Given the description of an element on the screen output the (x, y) to click on. 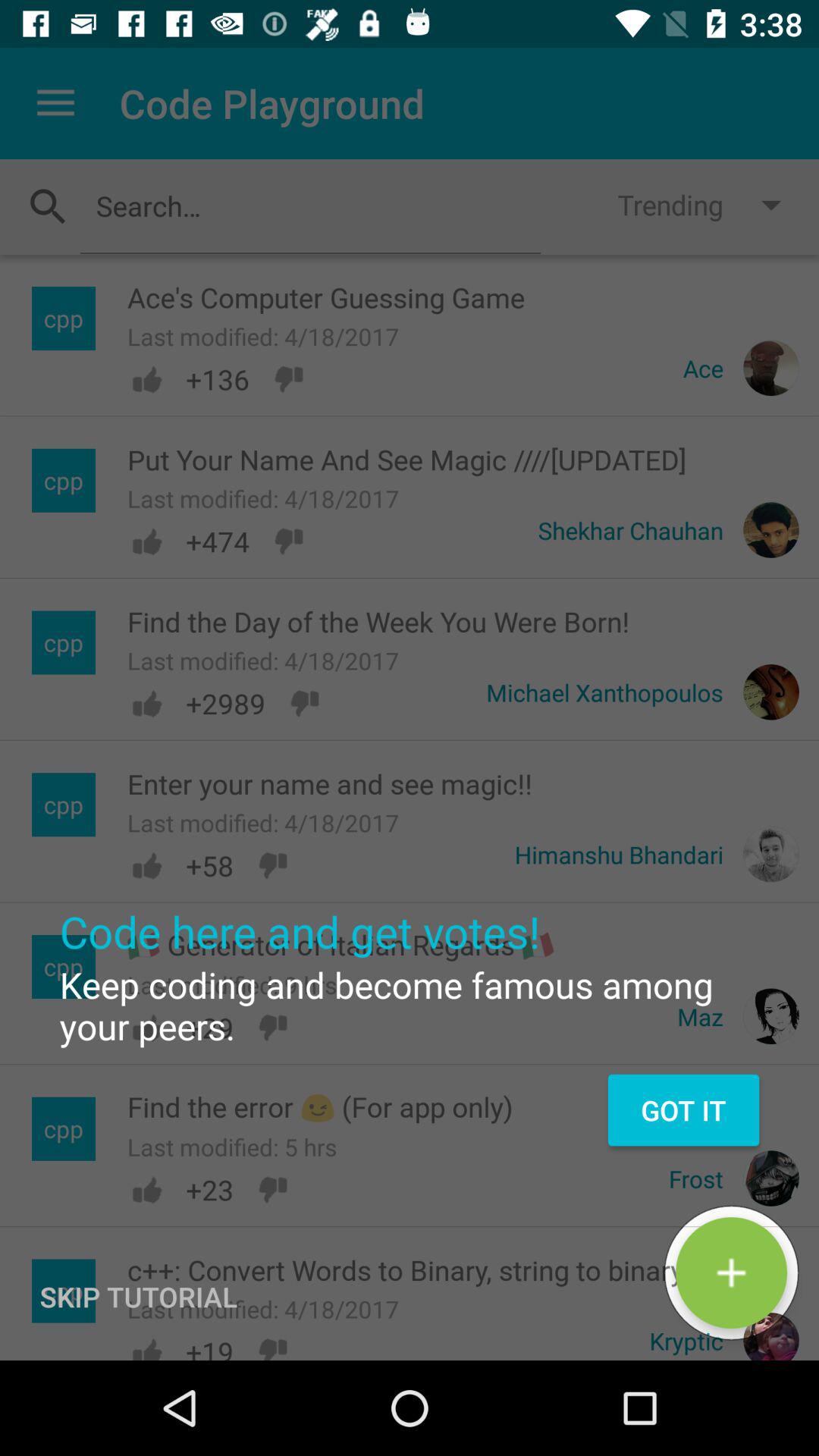
search toolbar (310, 205)
